Given the description of an element on the screen output the (x, y) to click on. 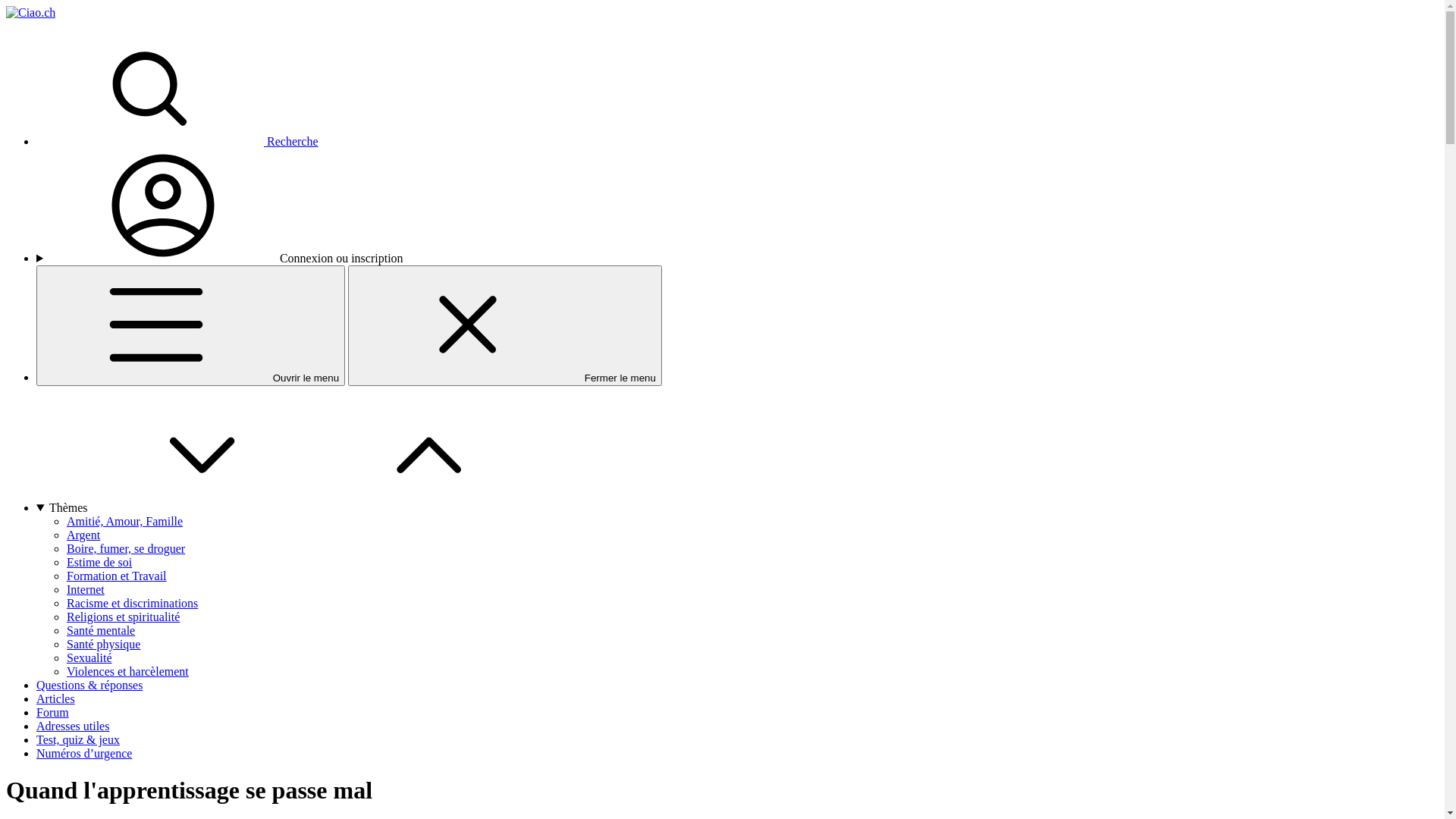
Test, quiz & jeux Element type: text (77, 739)
Champ requis Element type: hover (106, 300)
Champ requis Element type: hover (77, 271)
Articles Element type: text (55, 698)
Adresses utiles Element type: text (72, 725)
Formation et Travail Element type: text (116, 575)
Racisme et discriminations Element type: text (131, 602)
Forum Element type: text (52, 712)
Fermer le menu Element type: text (505, 325)
Estime de soi Element type: text (98, 561)
Internet Element type: text (85, 589)
Argent Element type: text (83, 534)
Boire, fumer, se droguer Element type: text (125, 548)
Ouvrir le menu Element type: text (190, 325)
Recherche Element type: text (177, 140)
